Given the description of an element on the screen output the (x, y) to click on. 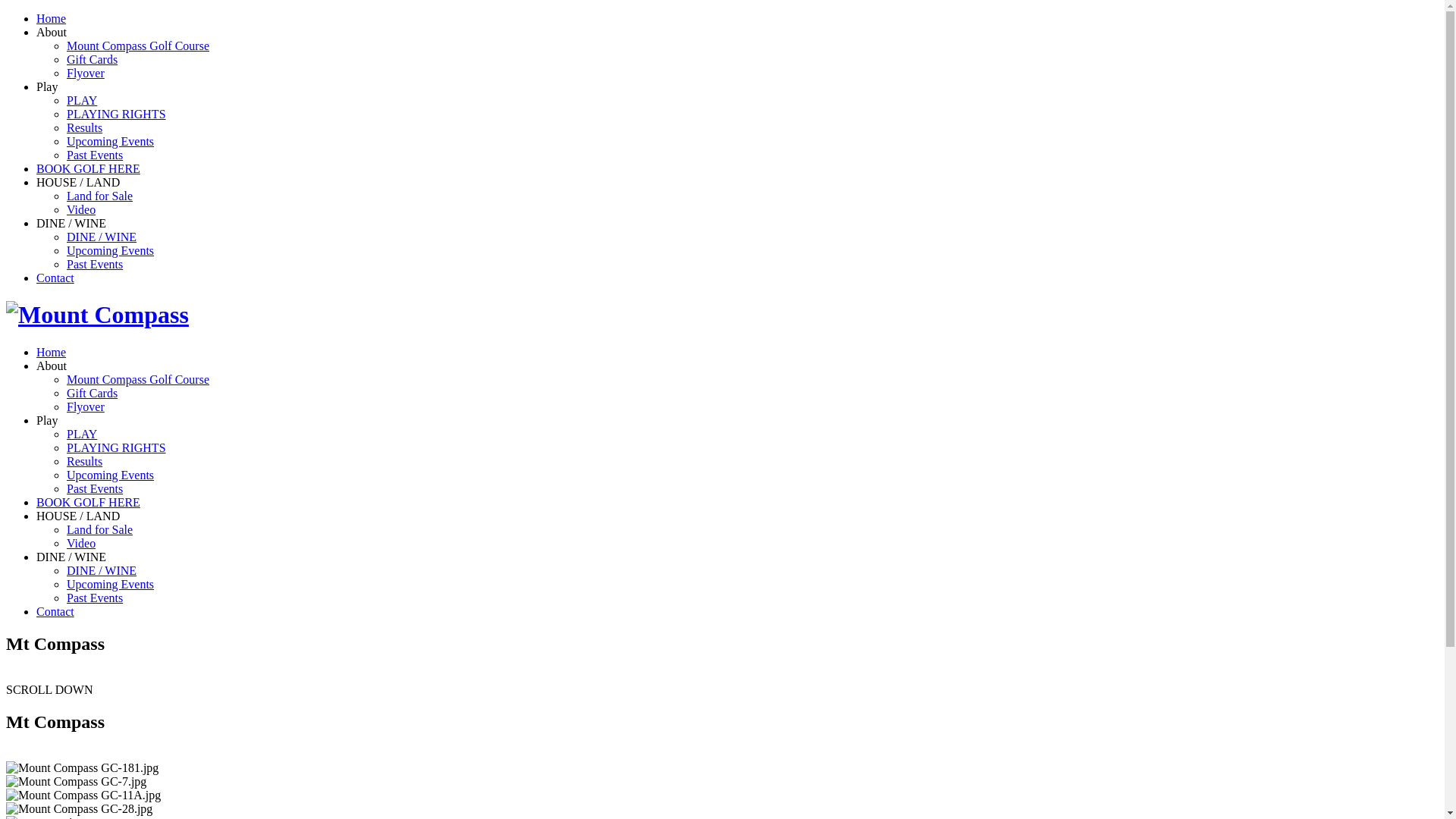
HOUSE / LAND Element type: text (77, 515)
BOOK GOLF HERE Element type: text (88, 168)
Upcoming Events Element type: text (109, 474)
Video Element type: text (80, 209)
PLAYING RIGHTS Element type: text (116, 447)
DINE / WINE Element type: text (71, 222)
Results Element type: text (84, 461)
Play Element type: text (46, 86)
Home Element type: text (50, 351)
Past Events Element type: text (94, 488)
Past Events Element type: text (94, 263)
Land for Sale Element type: text (99, 529)
About Element type: text (51, 365)
Upcoming Events Element type: text (109, 140)
Mount Compass Golf Course Element type: text (137, 379)
Upcoming Events Element type: text (109, 583)
DINE / WINE Element type: text (101, 236)
Video Element type: text (80, 542)
PLAY Element type: text (81, 433)
Past Events Element type: text (94, 154)
Mount Compass Golf Course Element type: text (137, 45)
Flyover Element type: text (85, 406)
Upcoming Events Element type: text (109, 250)
Results Element type: text (84, 127)
Land for Sale Element type: text (99, 195)
Contact Element type: text (55, 277)
Gift Cards Element type: text (91, 59)
PLAY Element type: text (81, 100)
Past Events Element type: text (94, 597)
About Element type: text (51, 31)
Play Element type: text (46, 420)
Gift Cards Element type: text (91, 392)
PLAYING RIGHTS Element type: text (116, 113)
Home Element type: text (50, 18)
BOOK GOLF HERE Element type: text (88, 501)
Contact Element type: text (55, 611)
DINE / WINE Element type: text (71, 556)
DINE / WINE Element type: text (101, 570)
HOUSE / LAND Element type: text (77, 181)
Flyover Element type: text (85, 72)
